Given the description of an element on the screen output the (x, y) to click on. 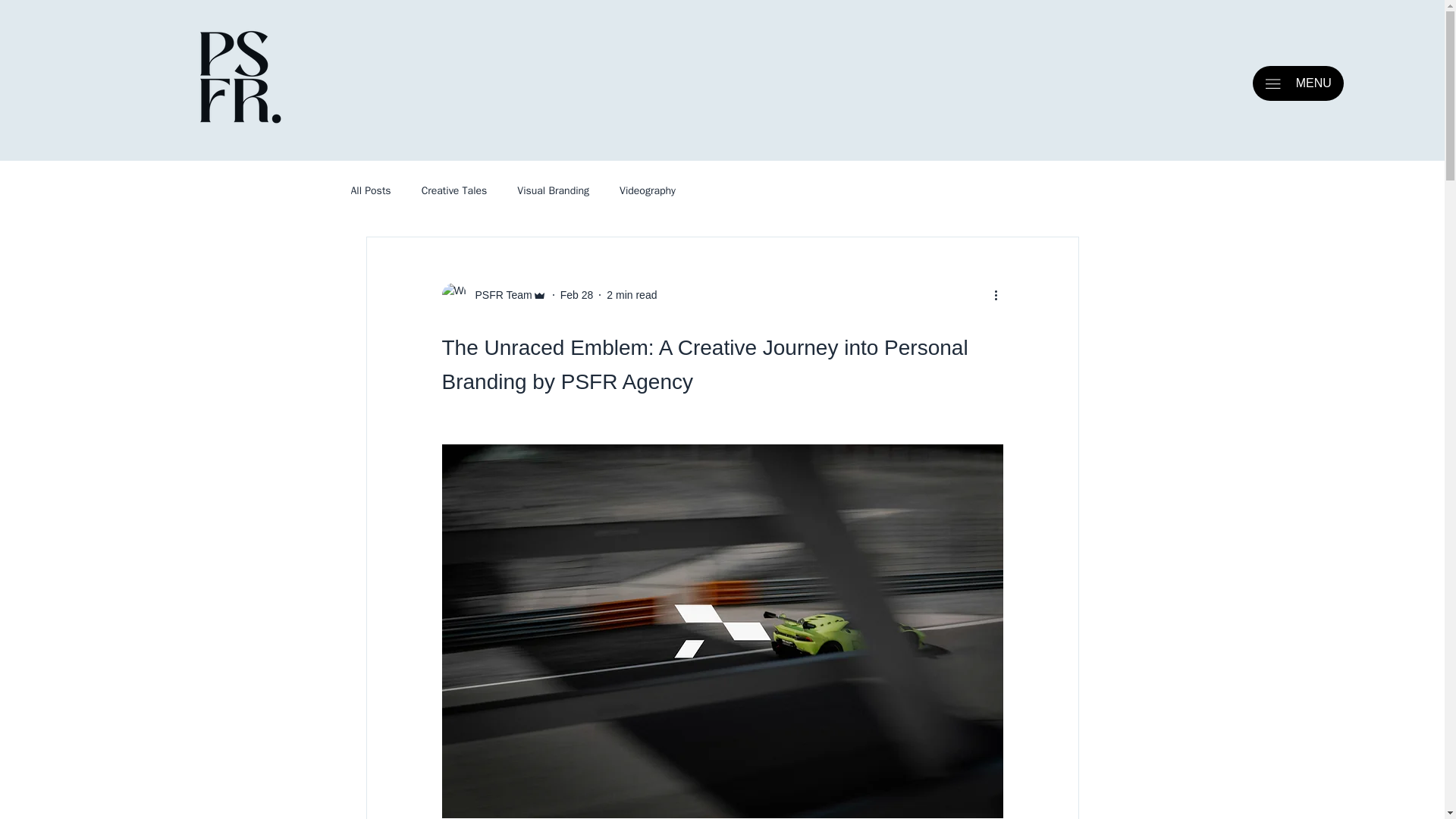
Feb 28 (577, 295)
PSFR Team (498, 295)
Creative Tales (454, 191)
All Posts (370, 191)
Videography (647, 191)
2 min read (631, 295)
Visual Branding (552, 191)
